Given the description of an element on the screen output the (x, y) to click on. 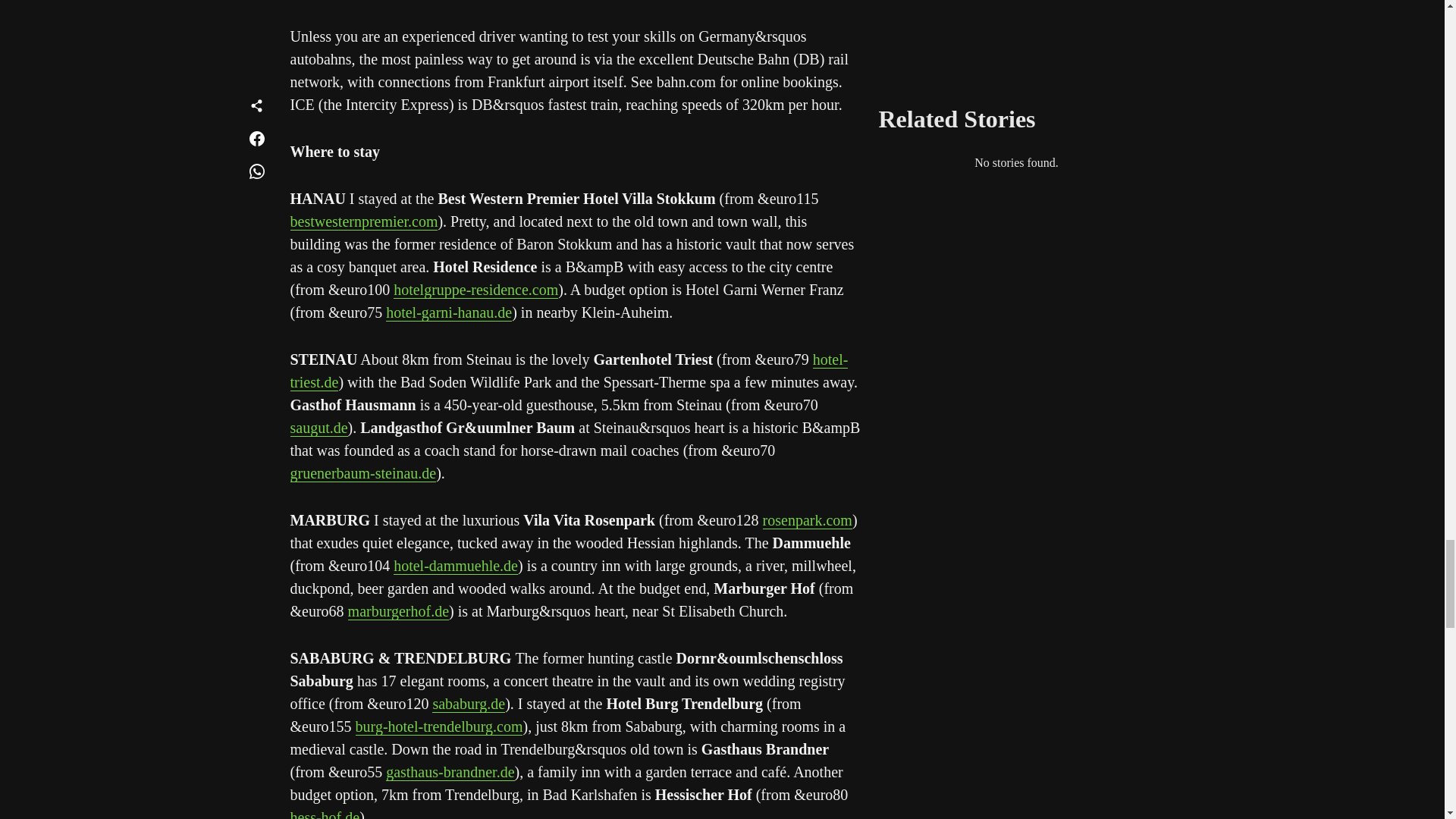
hotel-dammuehle.de (455, 565)
marburgerhof.de (397, 610)
bestwesternpremier.com (363, 221)
hotel-triest.de (568, 371)
gruenerbaum-steinau.de (362, 473)
hotelgruppe-residence.com (475, 289)
sababurg.de (468, 703)
saugut.de (318, 427)
rosenpark.com (806, 520)
hotel-garni-hanau.de (448, 312)
